Given the description of an element on the screen output the (x, y) to click on. 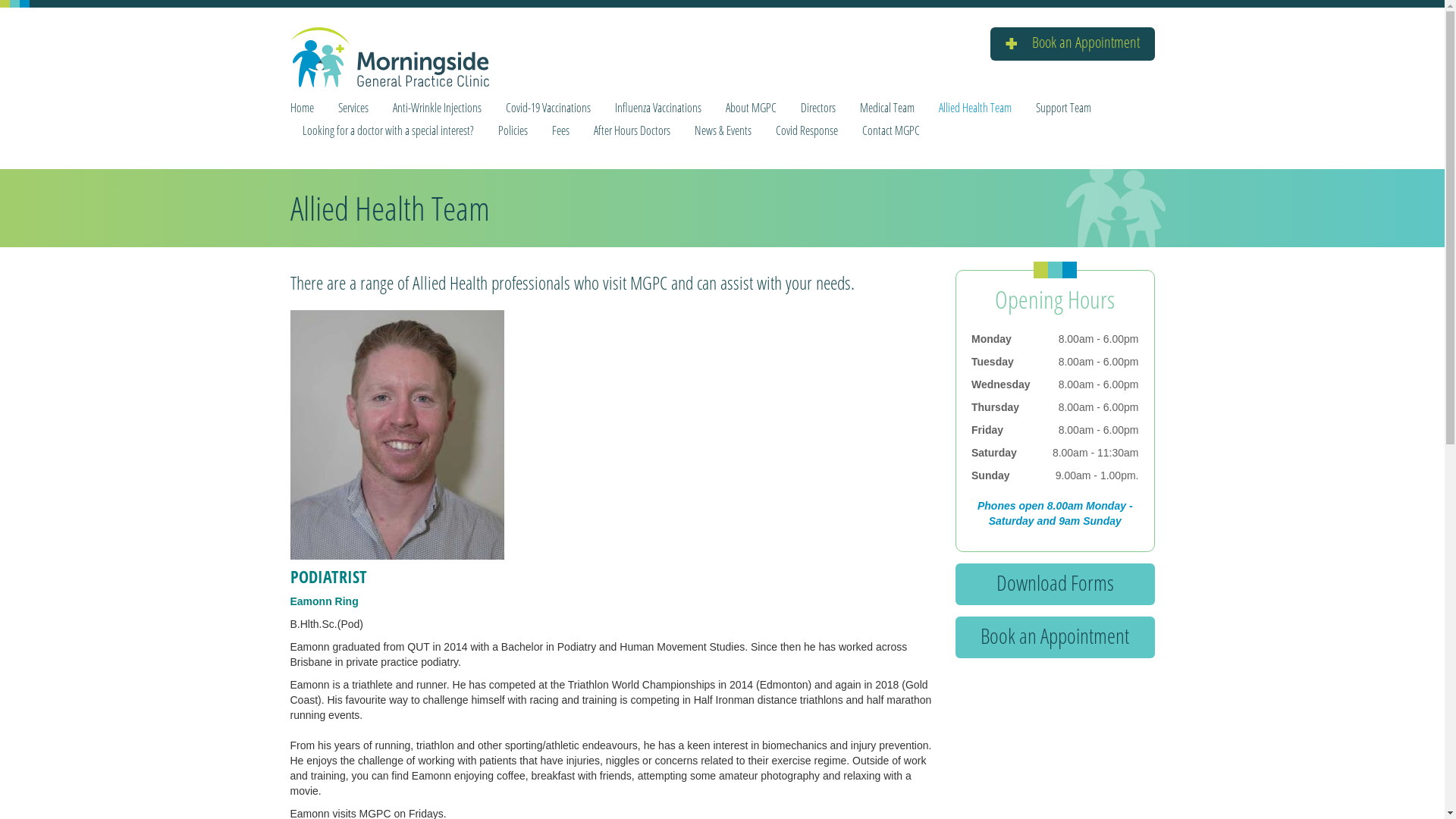
Services Element type: text (353, 107)
Directors Element type: text (817, 107)
Anti-Wrinkle Injections Element type: text (436, 107)
Download Forms Element type: text (1054, 584)
    Book an Appointment Element type: text (1072, 43)
Home Element type: text (307, 107)
News & Events Element type: text (722, 130)
Book an Appointment Element type: text (1054, 637)
Fees Element type: text (560, 130)
Influenza Vaccinations Element type: text (657, 107)
Covid-19 Vaccinations Element type: text (547, 107)
Support Team Element type: text (1063, 107)
After Hours Doctors Element type: text (630, 130)
Medical Team Element type: text (886, 107)
About MGPC Element type: text (749, 107)
Contact MGPC Element type: text (884, 130)
Allied Health Team Element type: text (974, 107)
Looking for a doctor with a special interest? Element type: text (387, 130)
Covid Response Element type: text (805, 130)
Policies Element type: text (512, 130)
